Given the description of an element on the screen output the (x, y) to click on. 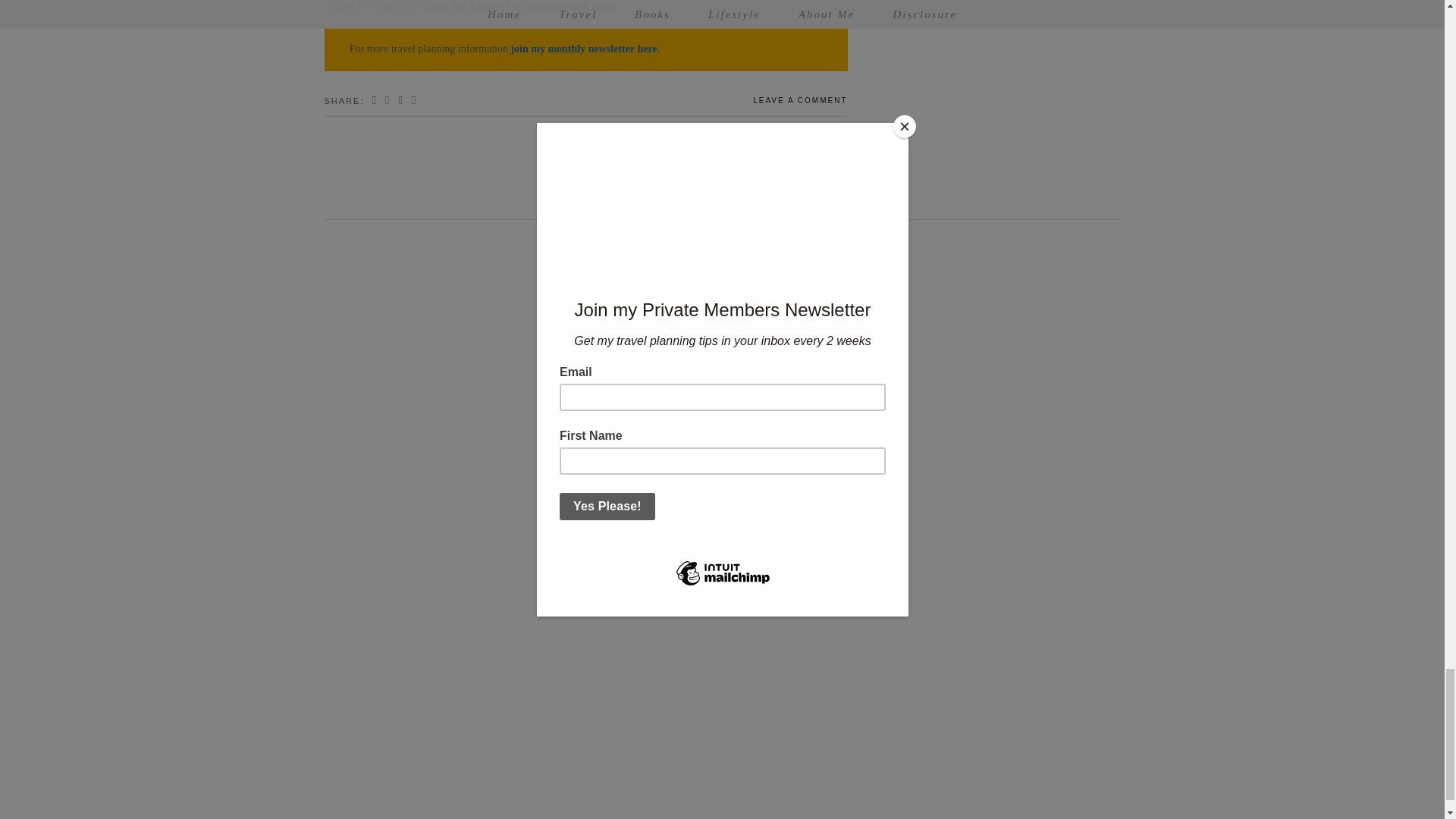
Share on tumblr (413, 101)
Share on Pinterest (400, 101)
Share on Twitter (387, 101)
Share on Facebook (374, 101)
